Given the description of an element on the screen output the (x, y) to click on. 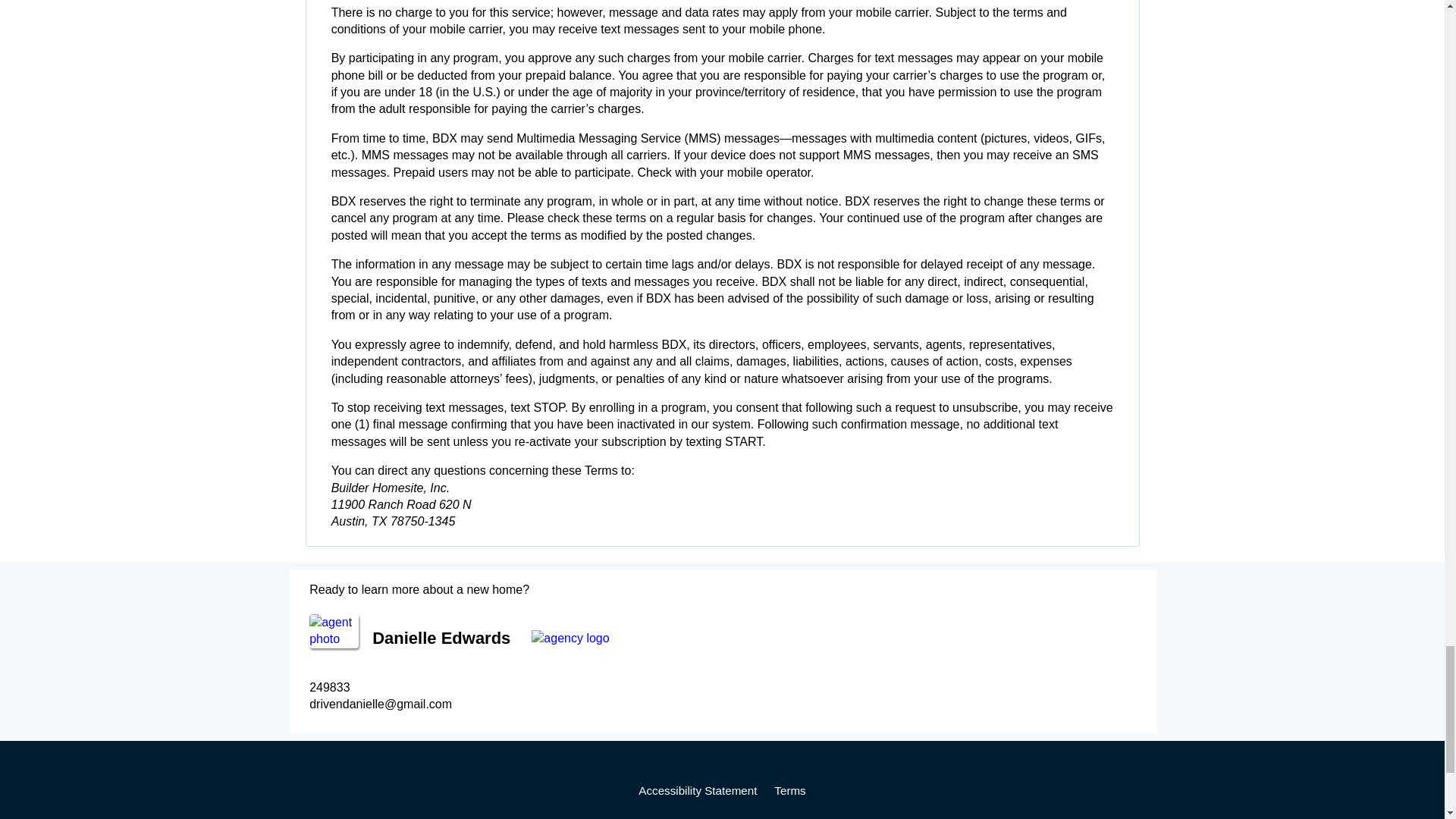
Accessibility Statement (698, 789)
Terms (789, 789)
